Given the description of an element on the screen output the (x, y) to click on. 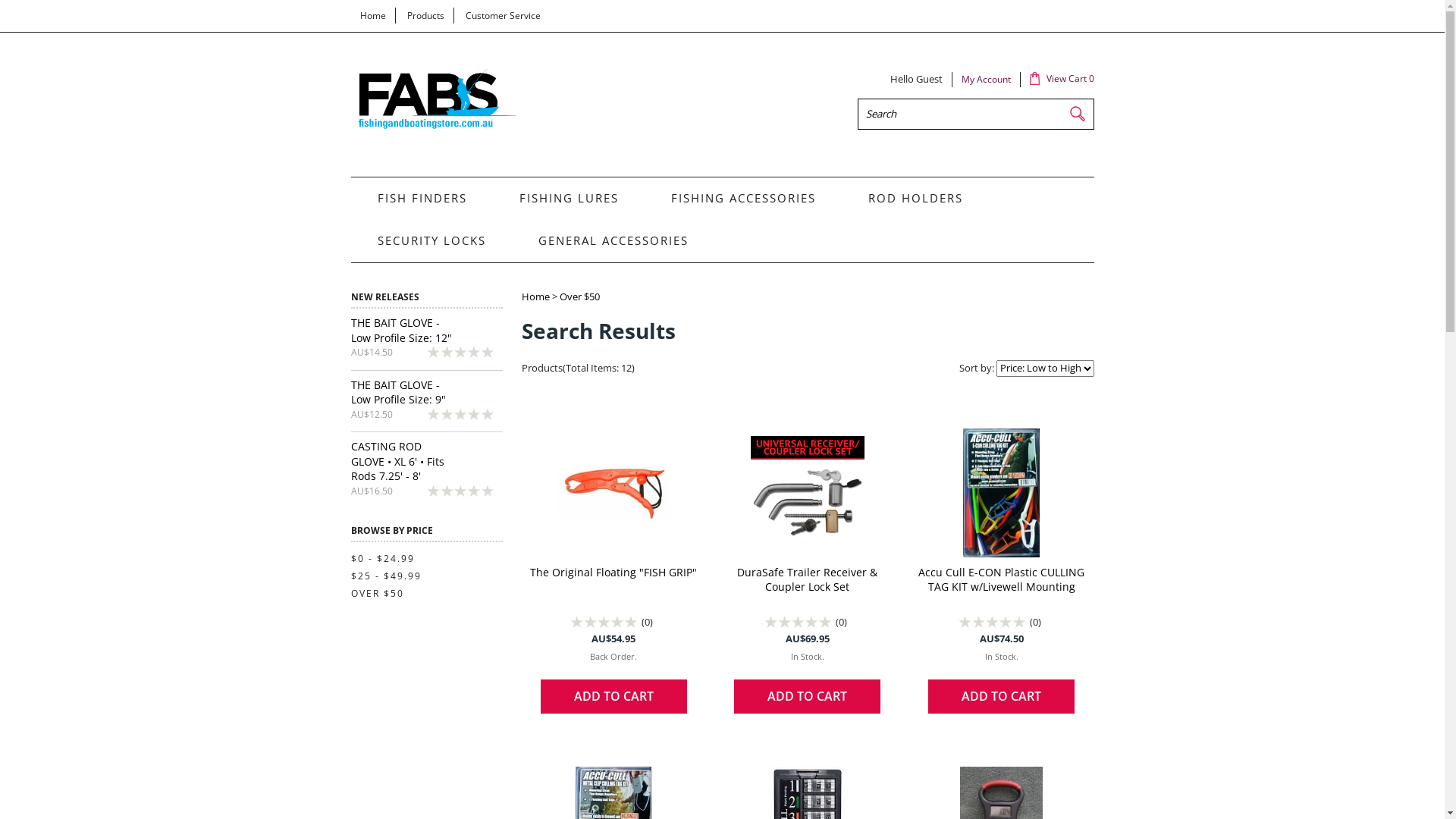
Accu Cull E-CON Plastic CULLING TAG KIT w/Livewell Mounting Element type: text (1001, 578)
My Account Element type: text (985, 78)
$25 - $49.99 Element type: text (385, 575)
THE BAIT GLOVE - Low Profile Size: 9" Element type: text (397, 392)
Home Element type: text (535, 296)
$0 - $24.99 Element type: text (382, 558)
View Cart 0 Element type: text (1061, 78)
Add To Cart Element type: text (613, 696)
Customer Service Element type: text (502, 15)
home Element type: text (434, 129)
GENERAL ACCESSORIES Element type: text (616, 240)
The Original Floating "FISH GRIP" Element type: text (613, 571)
Add To Cart Element type: text (807, 696)
Over $50 Element type: text (579, 296)
FISH FINDERS Element type: text (419, 198)
Home Element type: text (372, 15)
FISHING LURES Element type: text (567, 198)
FISHING ACCESSORIES Element type: text (741, 198)
Products Element type: text (424, 15)
Add To Cart Element type: text (1001, 696)
SECURITY LOCKS Element type: text (429, 240)
OVER $50 Element type: text (376, 592)
THE BAIT GLOVE - Low Profile Size: 12" Element type: text (400, 330)
DuraSafe Trailer Receiver & Coupler Lock Set Element type: text (807, 578)
ROD HOLDERS Element type: text (913, 198)
